Given the description of an element on the screen output the (x, y) to click on. 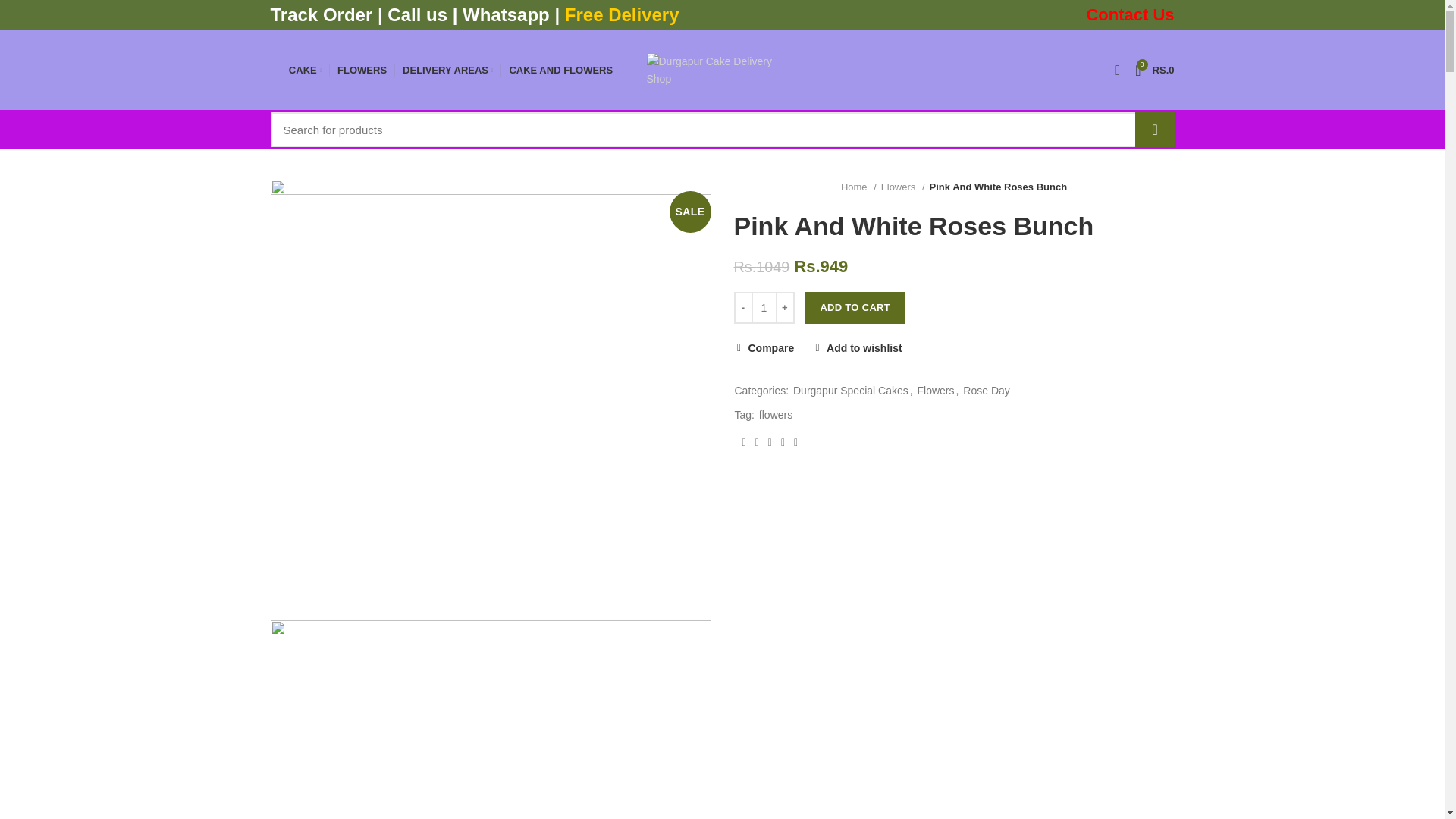
Shopping cart (1153, 69)
Search for products (721, 129)
CAKE (305, 69)
FLOWERS (362, 69)
SEARCH (1153, 129)
Track Order (320, 14)
DELIVERY AREAS (447, 69)
Call us (1153, 69)
Contact Us (419, 14)
